Given the description of an element on the screen output the (x, y) to click on. 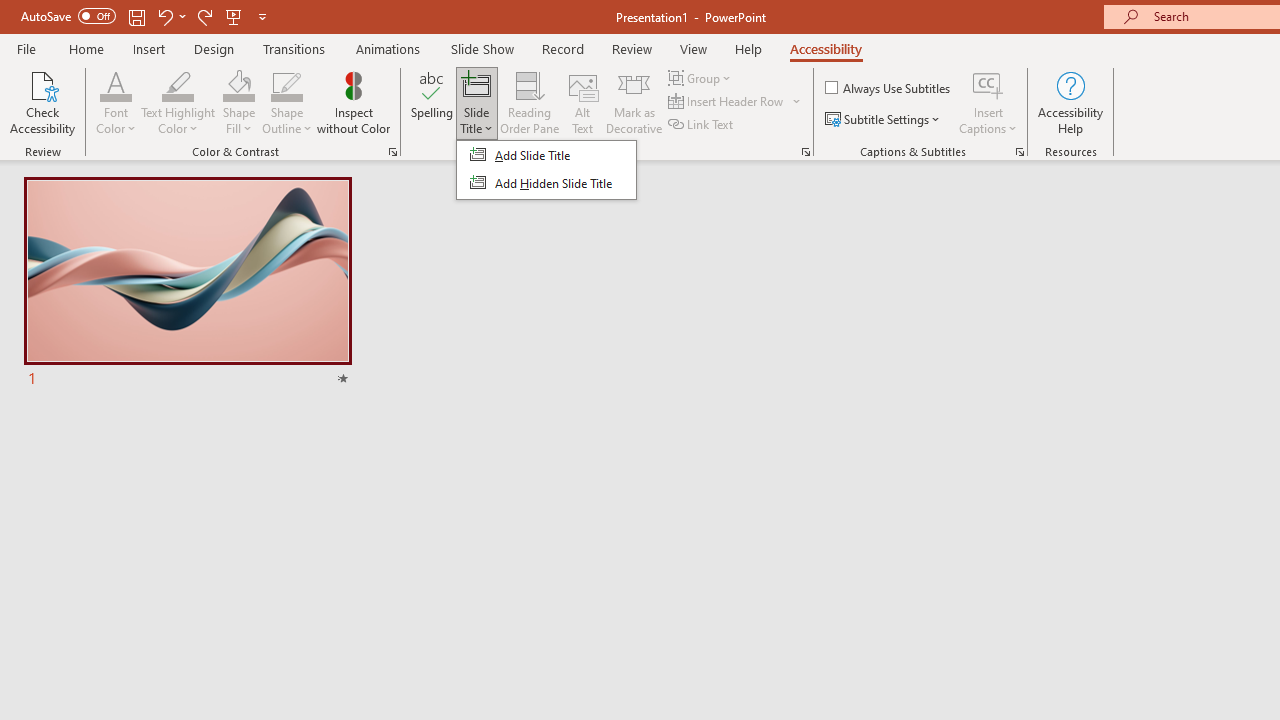
Accessibility Help (1070, 102)
